Given the description of an element on the screen output the (x, y) to click on. 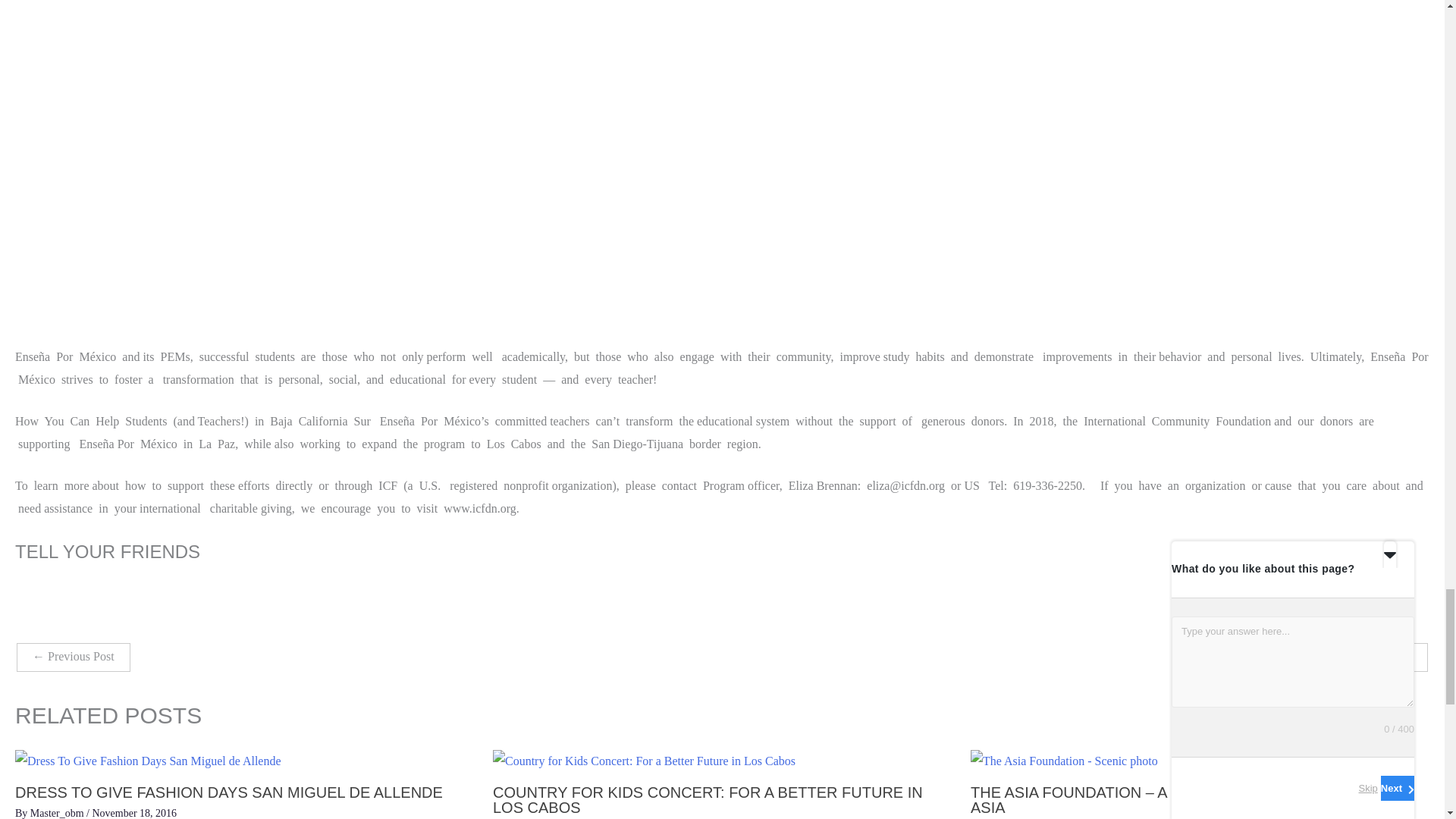
Casa Magnifica 8 (1380, 656)
